Given the description of an element on the screen output the (x, y) to click on. 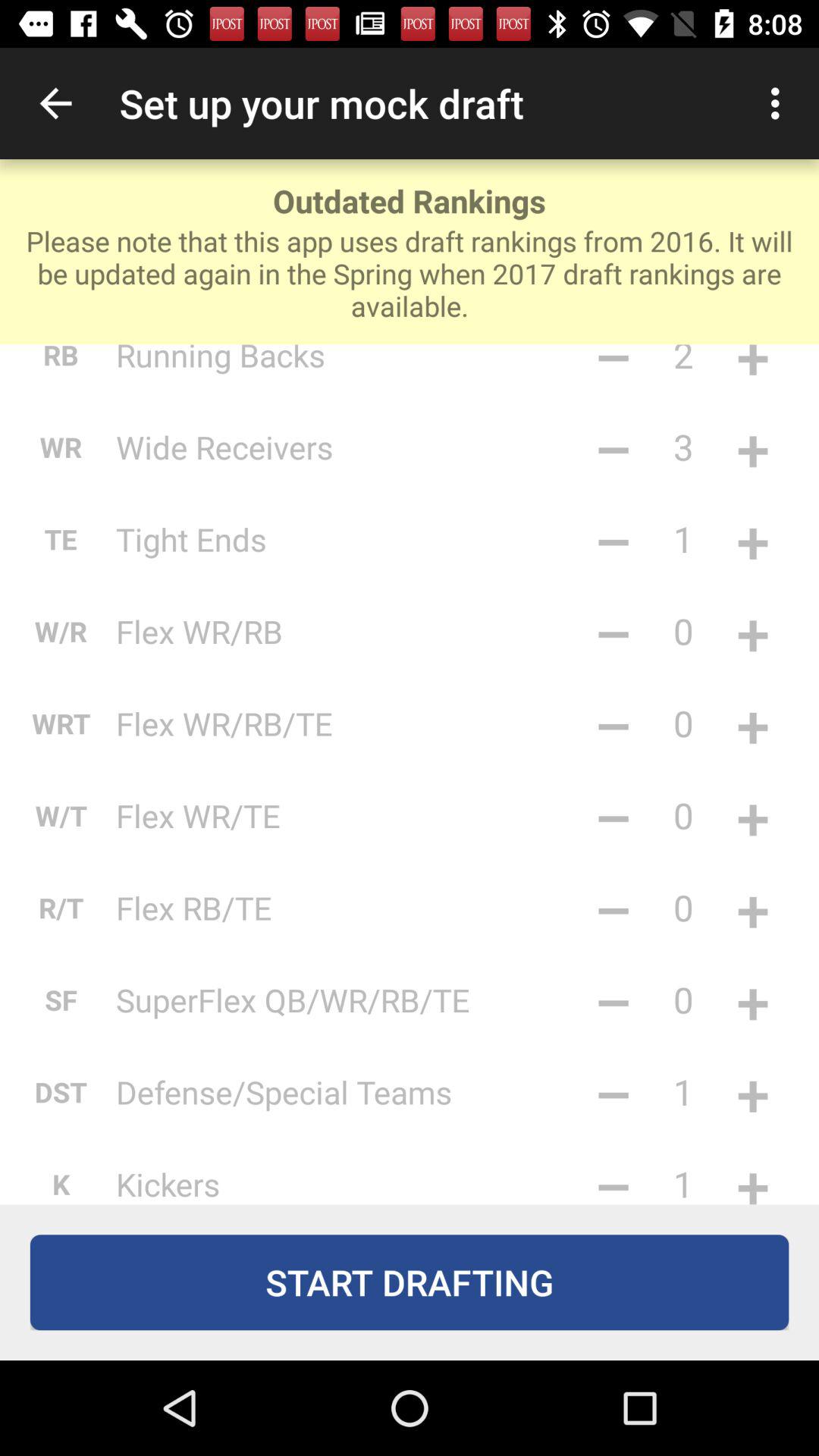
turn off the item next to 0 item (613, 815)
